Given the description of an element on the screen output the (x, y) to click on. 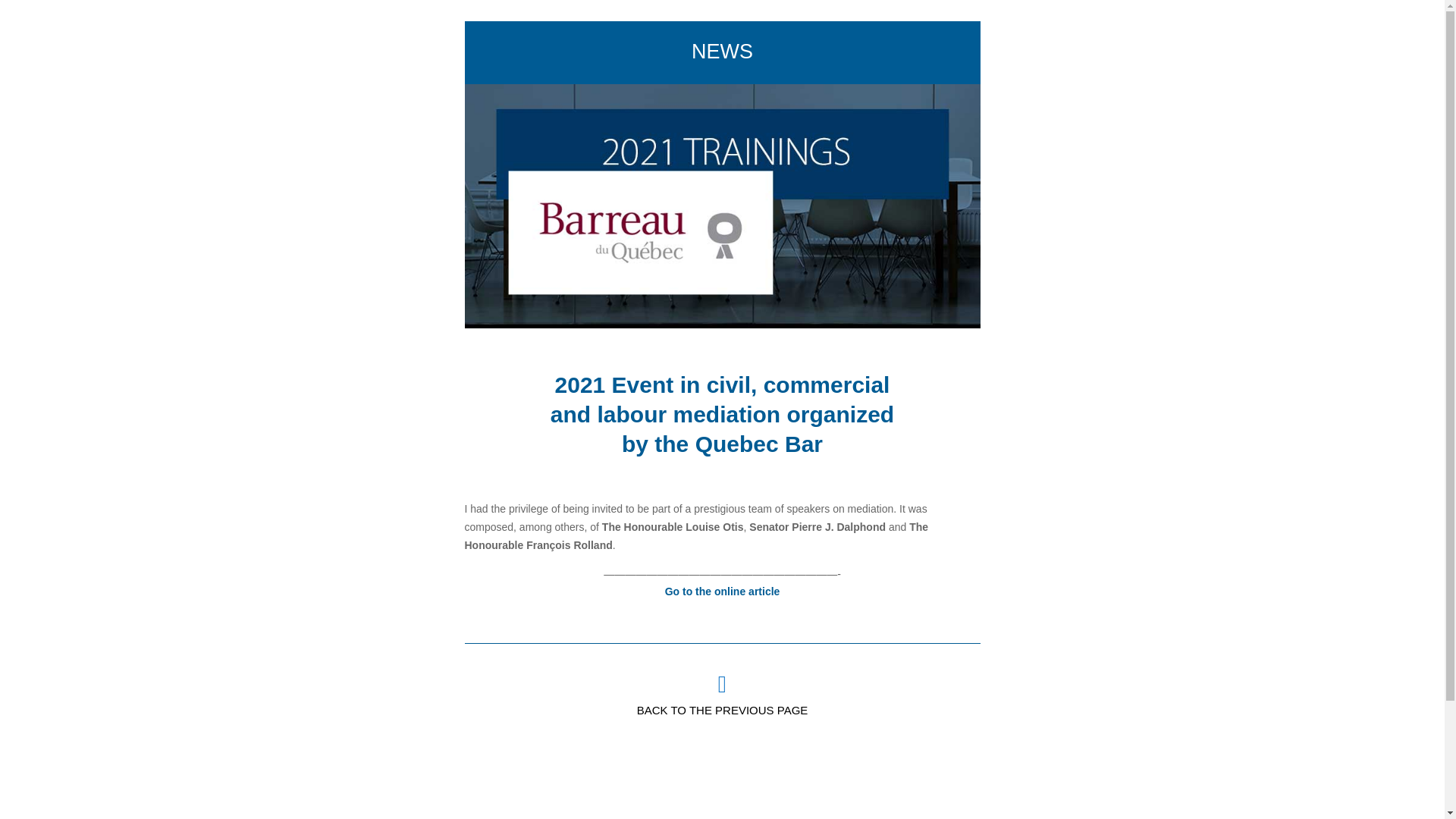
Go to the online article (722, 591)
news-2021-trainings (721, 206)
